Given the description of an element on the screen output the (x, y) to click on. 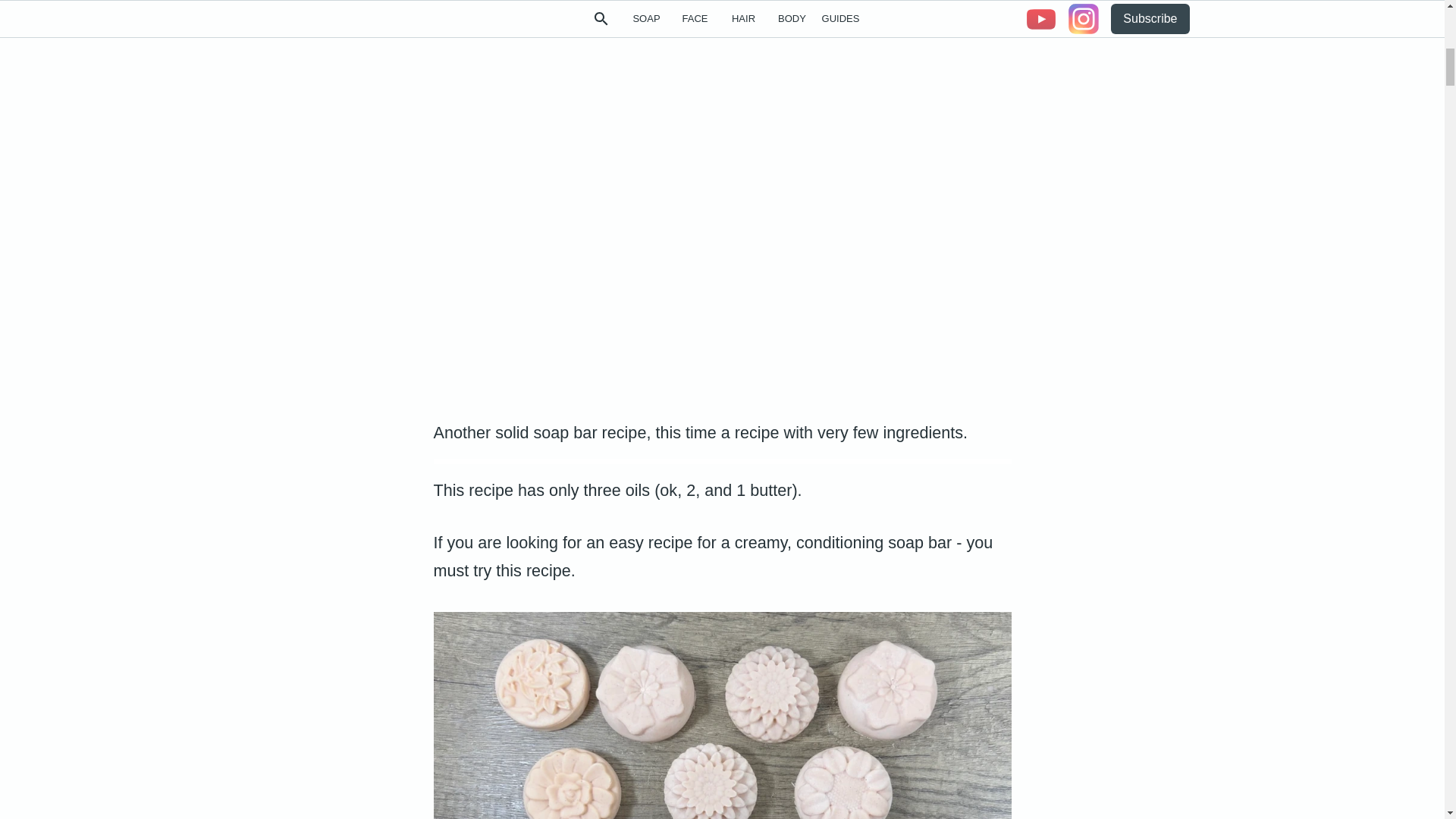
soap3oils30 (722, 715)
